Given the description of an element on the screen output the (x, y) to click on. 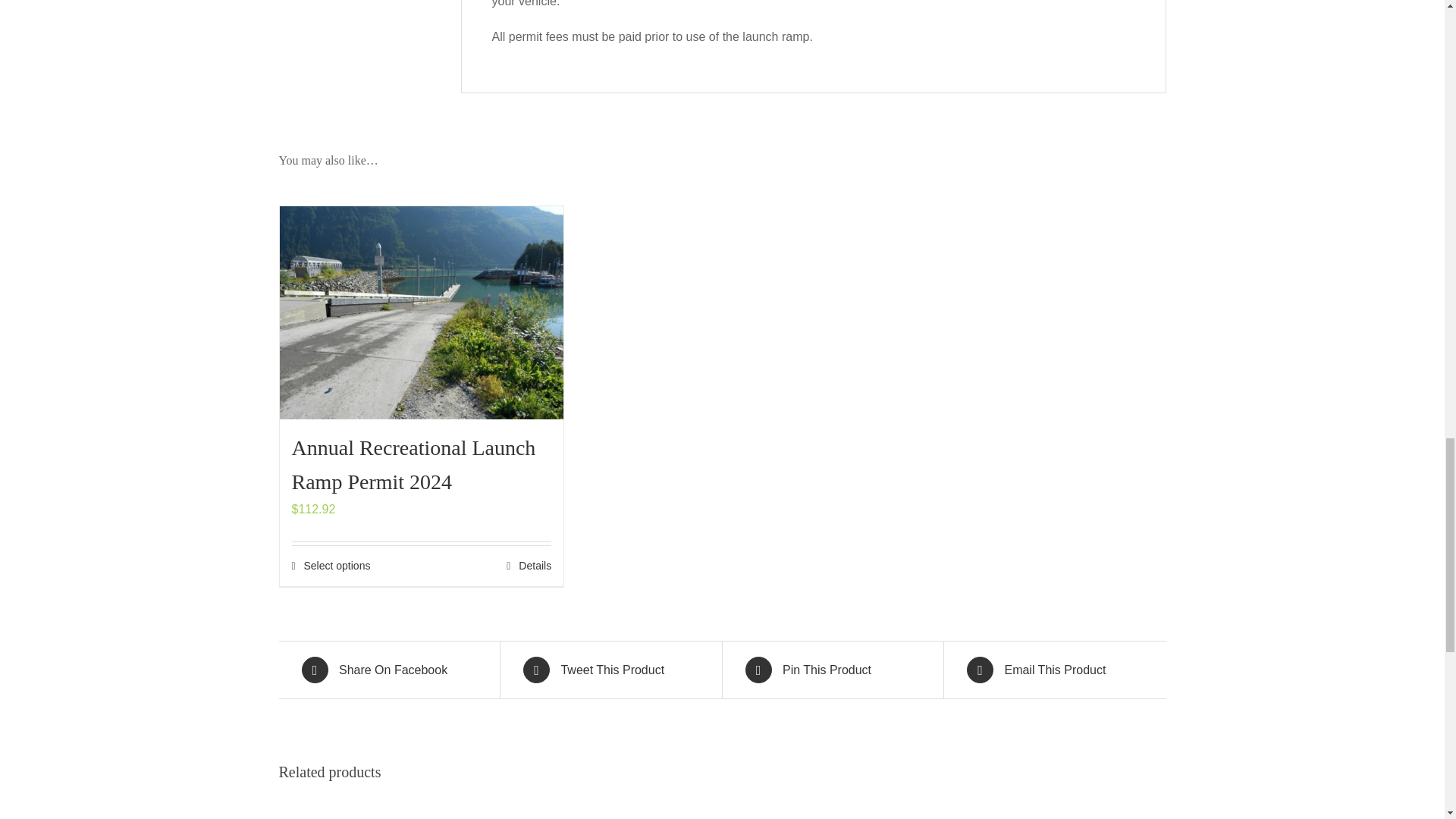
Tweet This Product (610, 669)
Annual Recreational Launch Ramp Permit 2024 (413, 464)
Email This Product (1054, 669)
Details (528, 565)
Share On Facebook (389, 669)
Select options (330, 565)
Pin This Product (832, 669)
